Given the description of an element on the screen output the (x, y) to click on. 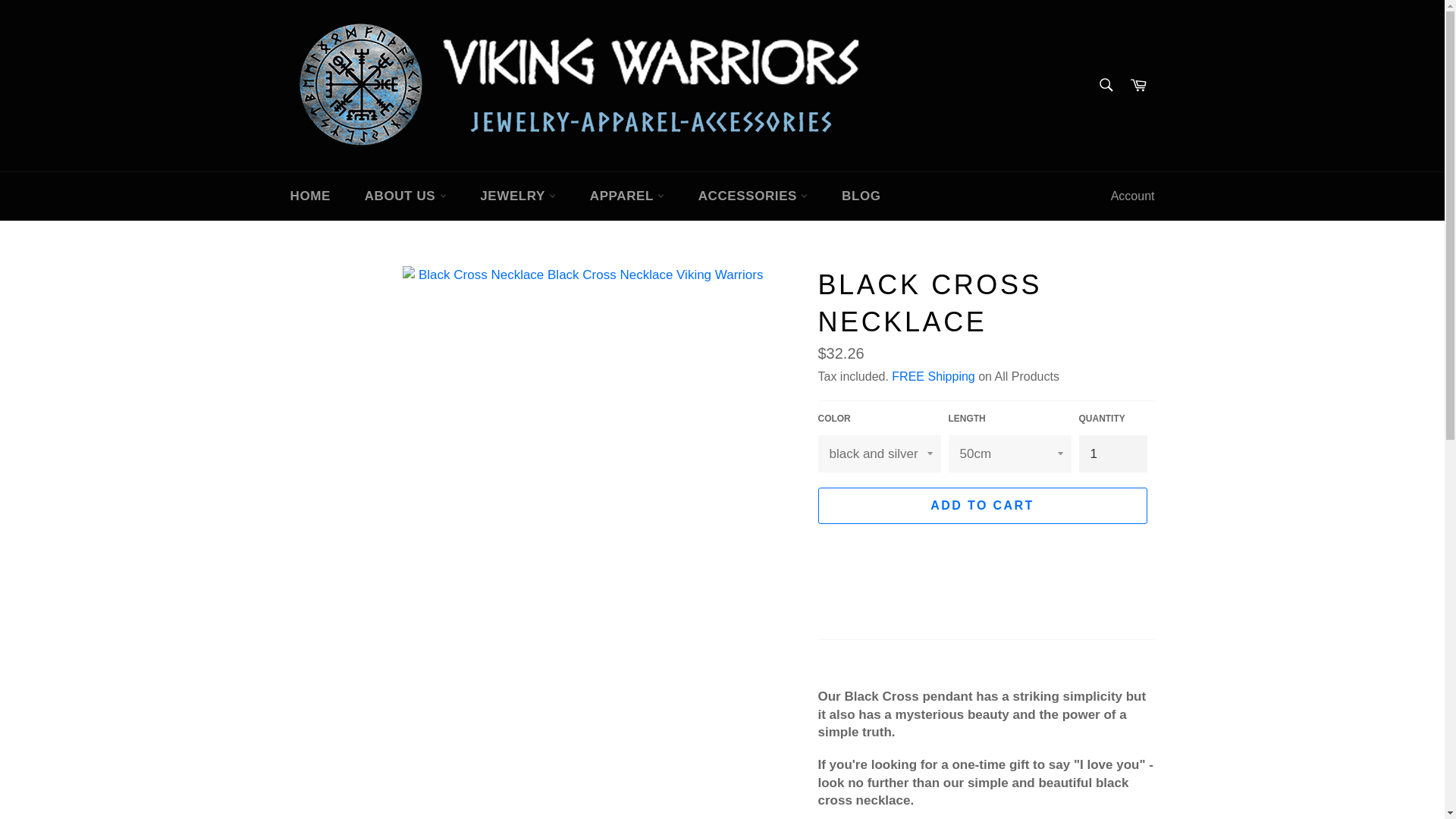
1 (1112, 453)
